Given the description of an element on the screen output the (x, y) to click on. 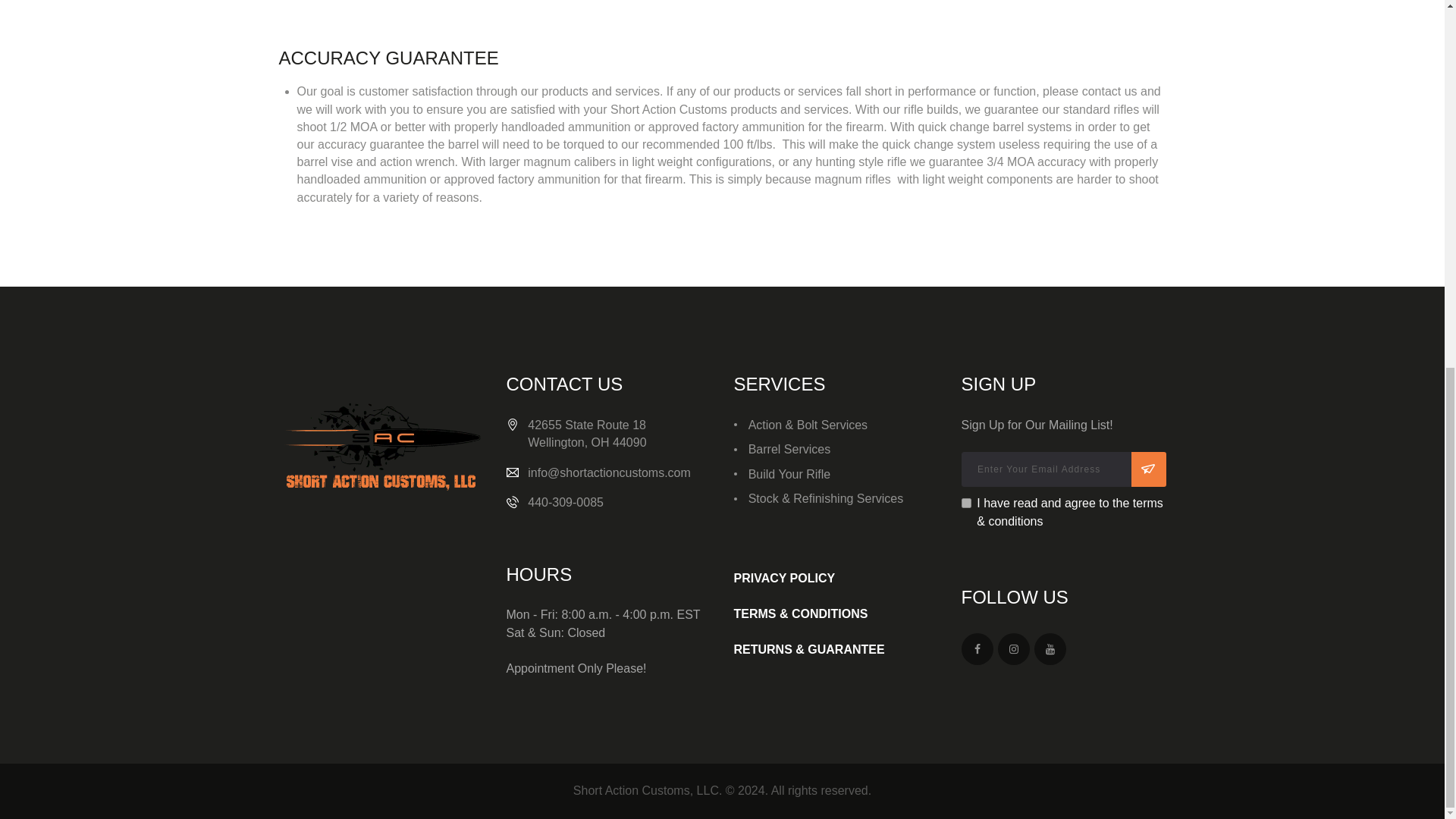
1 (965, 502)
